Given the description of an element on the screen output the (x, y) to click on. 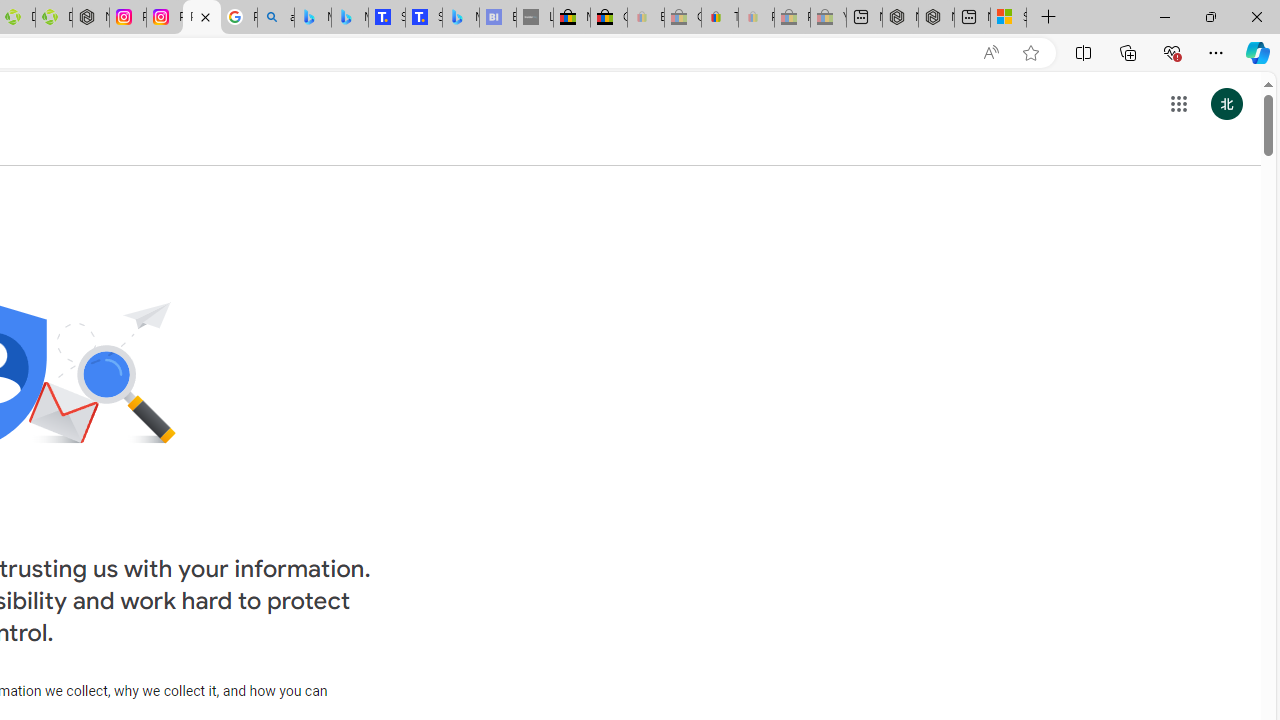
Nordace - Summer Adventures 2024 (936, 17)
Nordace - Nordace Edin Collection (90, 17)
Microsoft Bing Travel - Flights from Hong Kong to Bangkok (312, 17)
Sign in to your Microsoft account (1008, 17)
Google apps (1178, 103)
Threats and offensive language policy | eBay (719, 17)
Microsoft Bing Travel - Shangri-La Hotel Bangkok (460, 17)
